Given the description of an element on the screen output the (x, y) to click on. 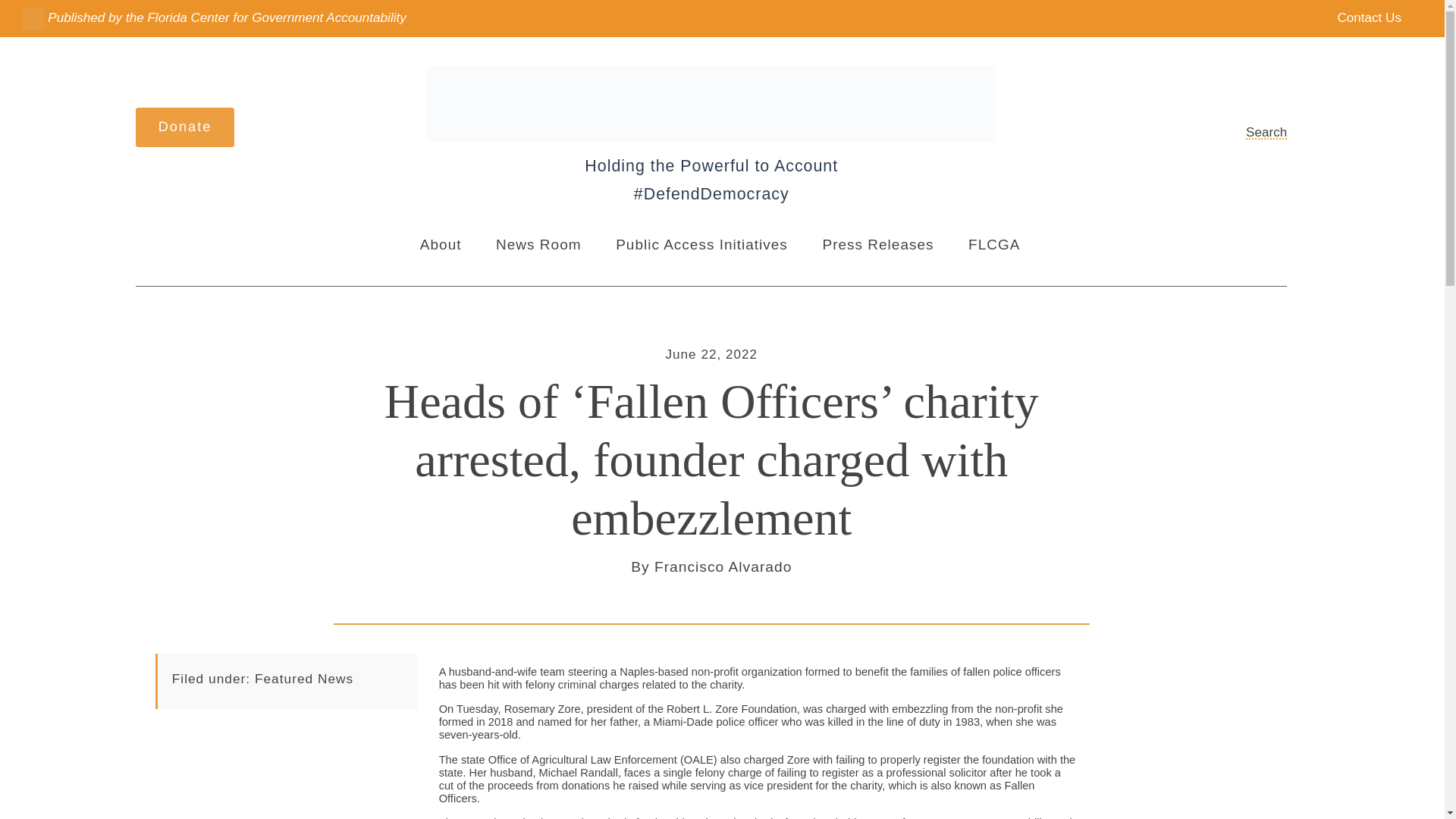
Featured News (303, 678)
Donate (184, 127)
FLCGA (994, 244)
Francisco Alvarado (722, 566)
News Room (538, 244)
Search (1255, 132)
Public Access Initiatives (701, 244)
Press Releases (877, 244)
About (440, 244)
Contact Us (1358, 17)
